Given the description of an element on the screen output the (x, y) to click on. 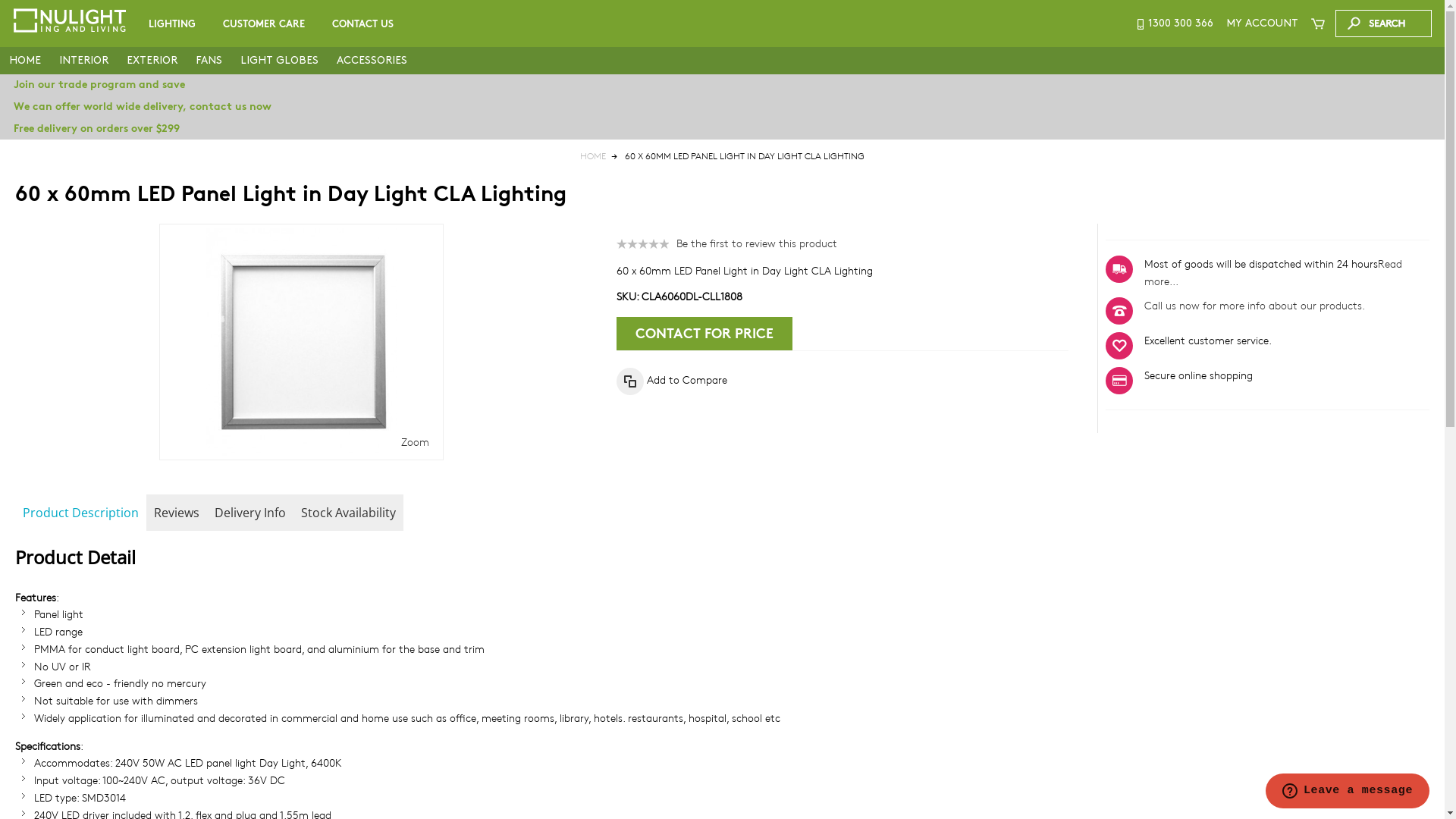
CONTACT US Element type: text (362, 23)
Be the first to review this product Element type: text (756, 242)
EXTERIOR Element type: text (151, 60)
Join our trade program and save Element type: text (722, 85)
Call us now for more info about our products. Element type: text (1254, 304)
Reviews Element type: text (176, 512)
INTERIOR Element type: text (83, 60)
CUSTOMER CARE Element type: text (263, 23)
HOME Element type: text (25, 60)
CONTACT FOR PRICE Element type: text (704, 333)
Opens a widget where you can chat to one of our agents Element type: hover (1346, 792)
Delivery Info Element type: text (250, 512)
We can offer world wide delivery, contact us now Element type: text (722, 107)
FANS Element type: text (208, 60)
60 x 60mm LED Panel Light in Day Light CLA Lighting Element type: hover (301, 341)
For support, call us on
1300 300 366 Element type: text (1173, 23)
MY ACCOUNT Element type: text (1261, 23)
Zoom Element type: text (414, 441)
Stock Availability Element type: text (348, 512)
Product Description Element type: text (80, 512)
Read more... Element type: text (1273, 272)
Add to Compare Element type: text (671, 380)
LIGHT GLOBES Element type: text (279, 60)
HOME Element type: text (592, 155)
0 Element type: text (509, 52)
LIGHTING Element type: text (171, 23)
ACCESSORIES Element type: text (371, 60)
Free delivery on orders over $299 Element type: text (722, 129)
Nu Lighting Element type: hover (69, 20)
